Given the description of an element on the screen output the (x, y) to click on. 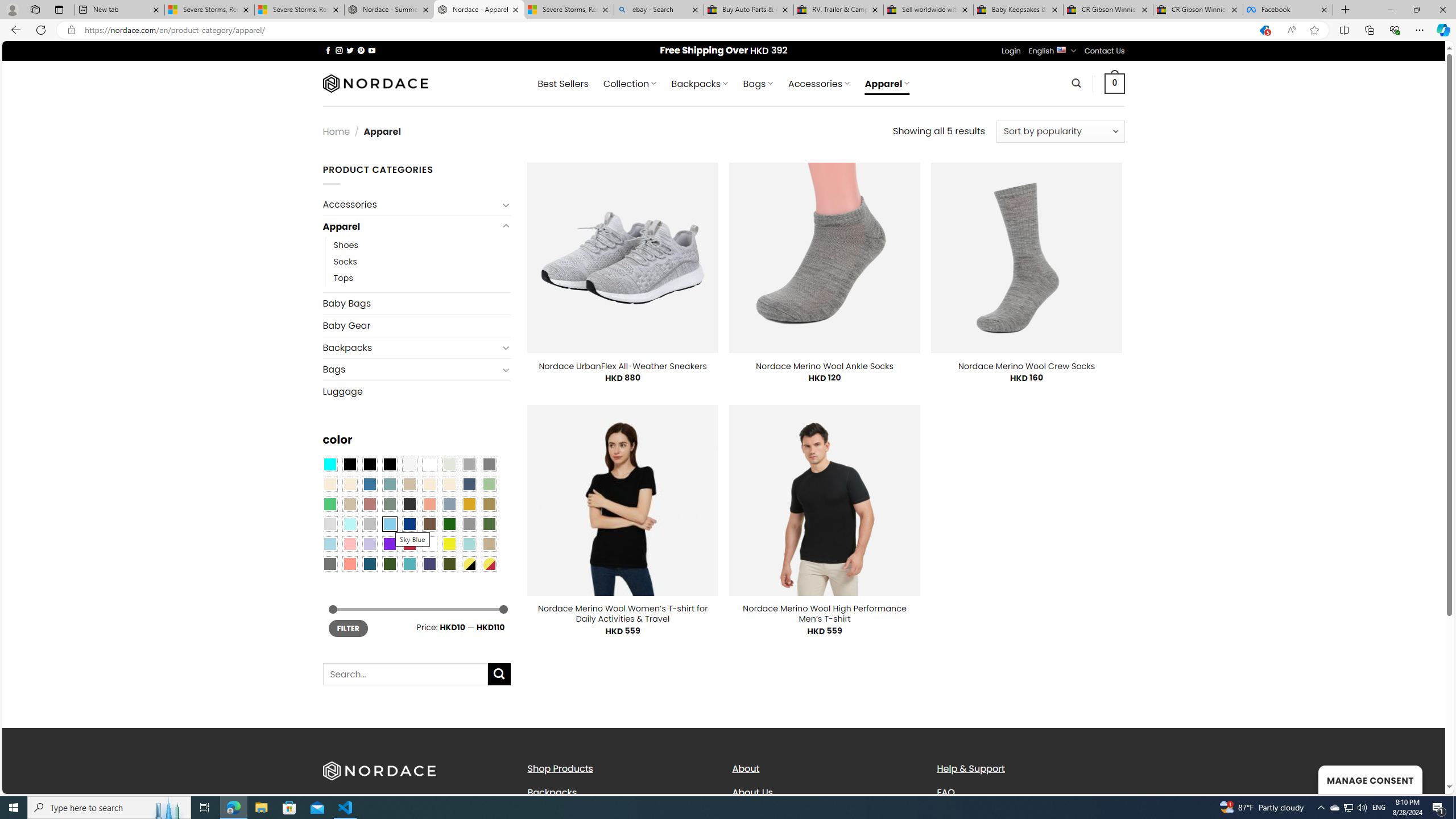
Go to top (1421, 777)
  Best Sellers (562, 83)
Apparel (410, 226)
This site has coupons! Shopping in Microsoft Edge, 5 (1263, 29)
Ash Gray (449, 464)
Dark Gray (468, 464)
